Given the description of an element on the screen output the (x, y) to click on. 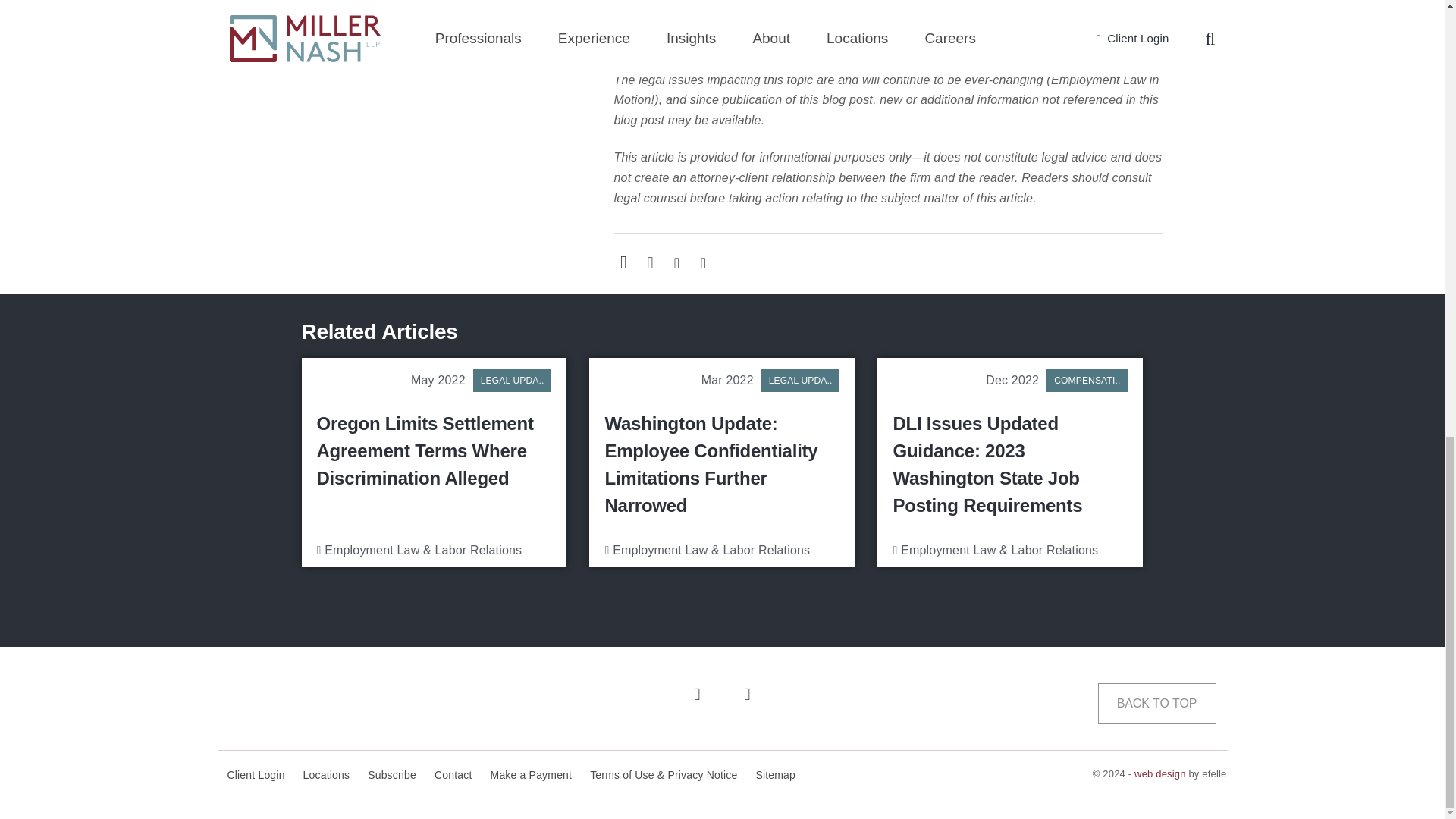
law firm web design (1160, 774)
Share via LinkedIn (675, 262)
Share via Twitter (702, 262)
Share via Email (623, 262)
More Sharing Options (649, 262)
